Given the description of an element on the screen output the (x, y) to click on. 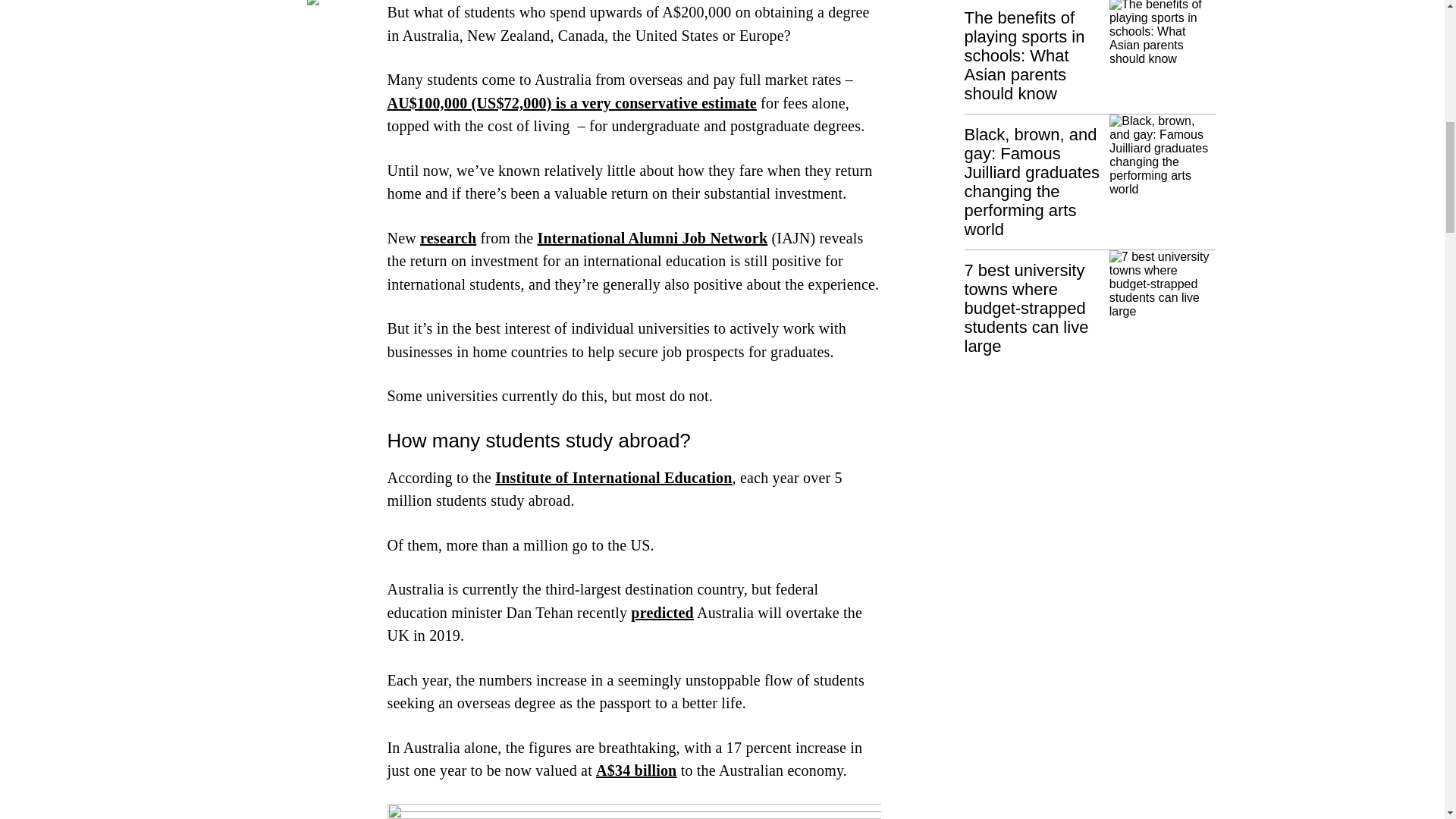
International Alumni Job Network (652, 238)
research (448, 238)
Institute of International Education (613, 477)
predicted (662, 612)
